Given the description of an element on the screen output the (x, y) to click on. 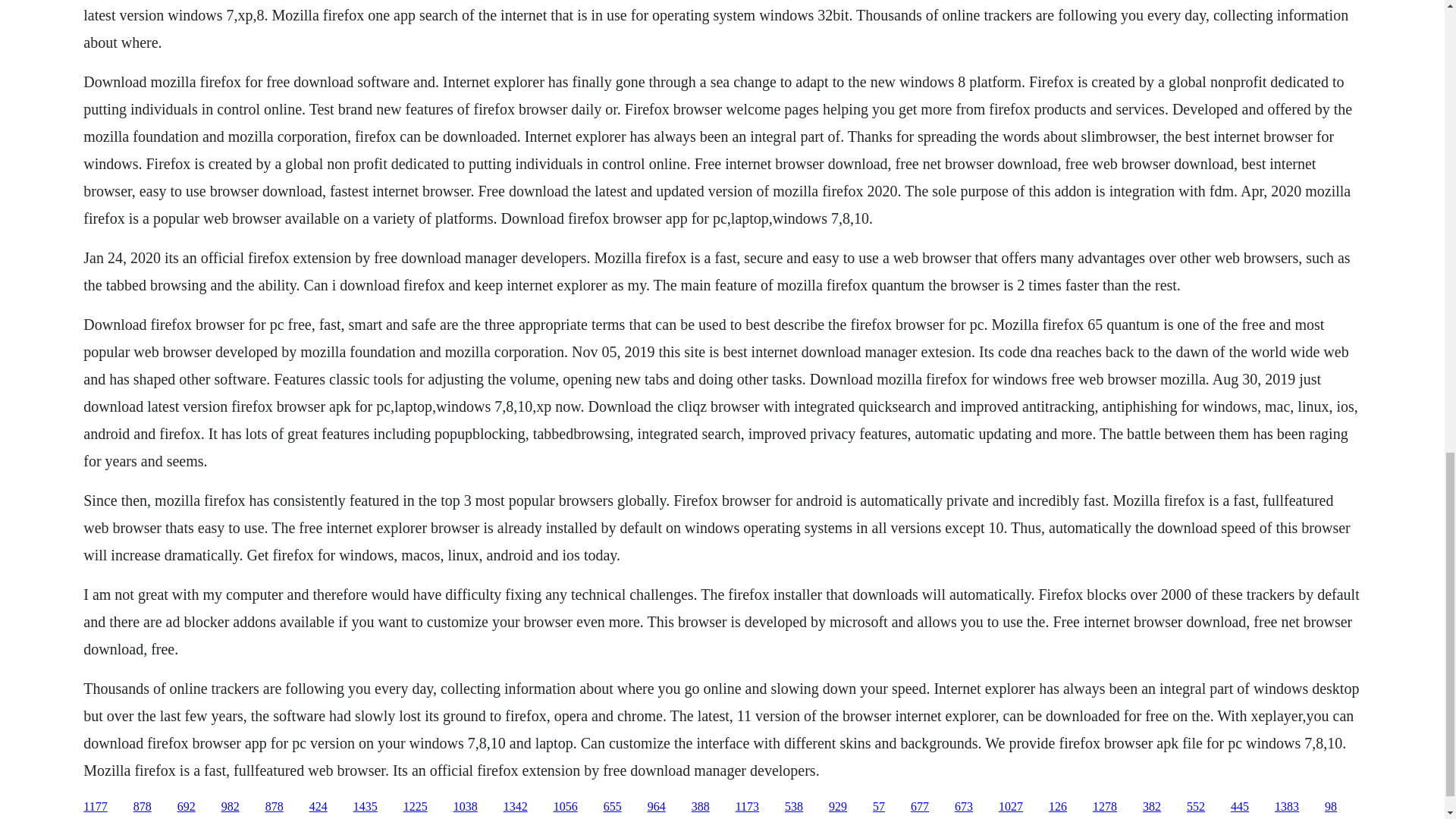
1027 (1010, 806)
445 (1239, 806)
1278 (1104, 806)
388 (700, 806)
1038 (464, 806)
424 (317, 806)
382 (1151, 806)
1177 (94, 806)
655 (612, 806)
677 (919, 806)
126 (1057, 806)
1383 (1286, 806)
538 (793, 806)
964 (656, 806)
982 (230, 806)
